Given the description of an element on the screen output the (x, y) to click on. 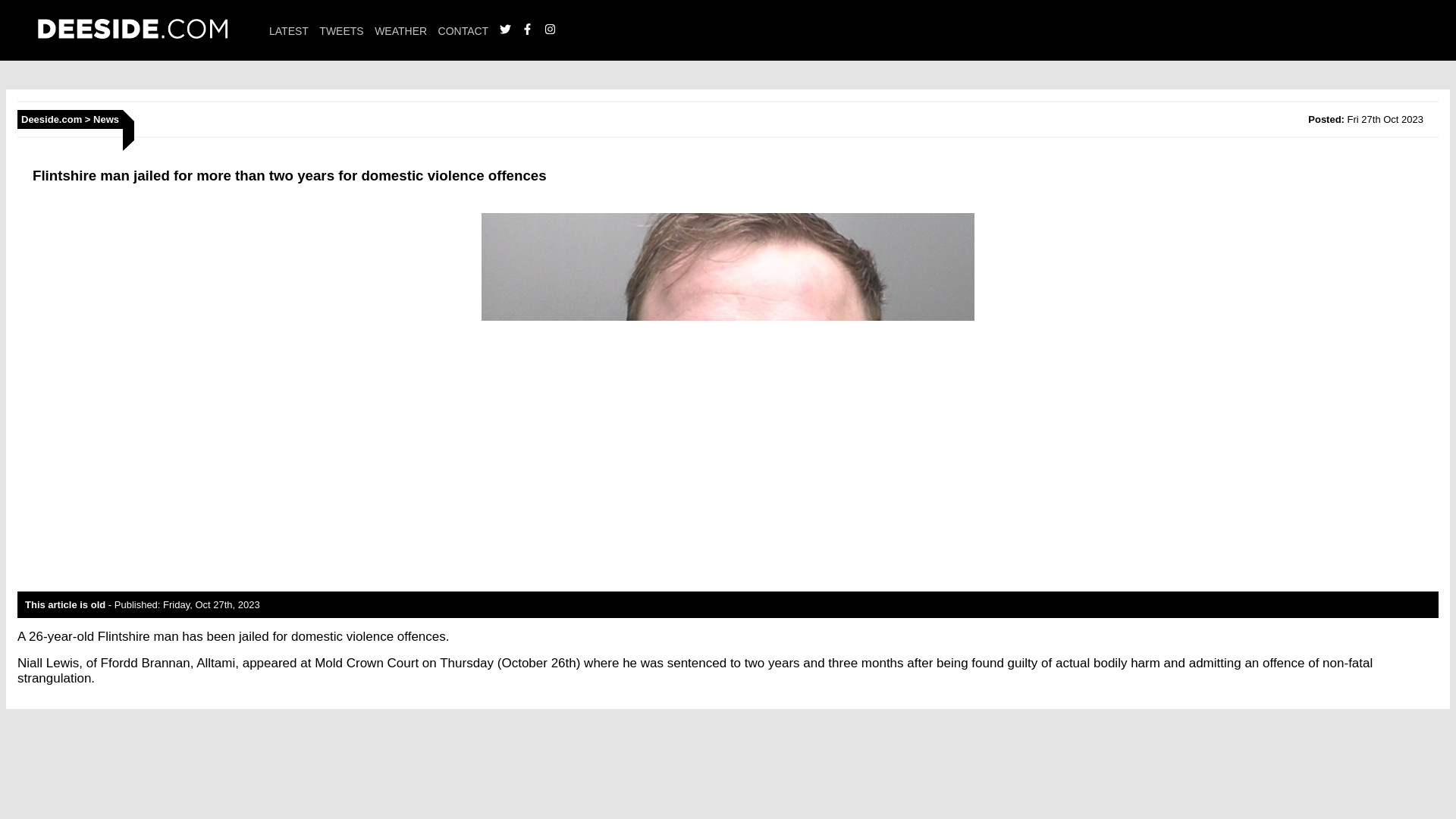
WEATHER (400, 30)
CONTACT (463, 30)
LATEST (288, 30)
TWEETS (340, 30)
